Given the description of an element on the screen output the (x, y) to click on. 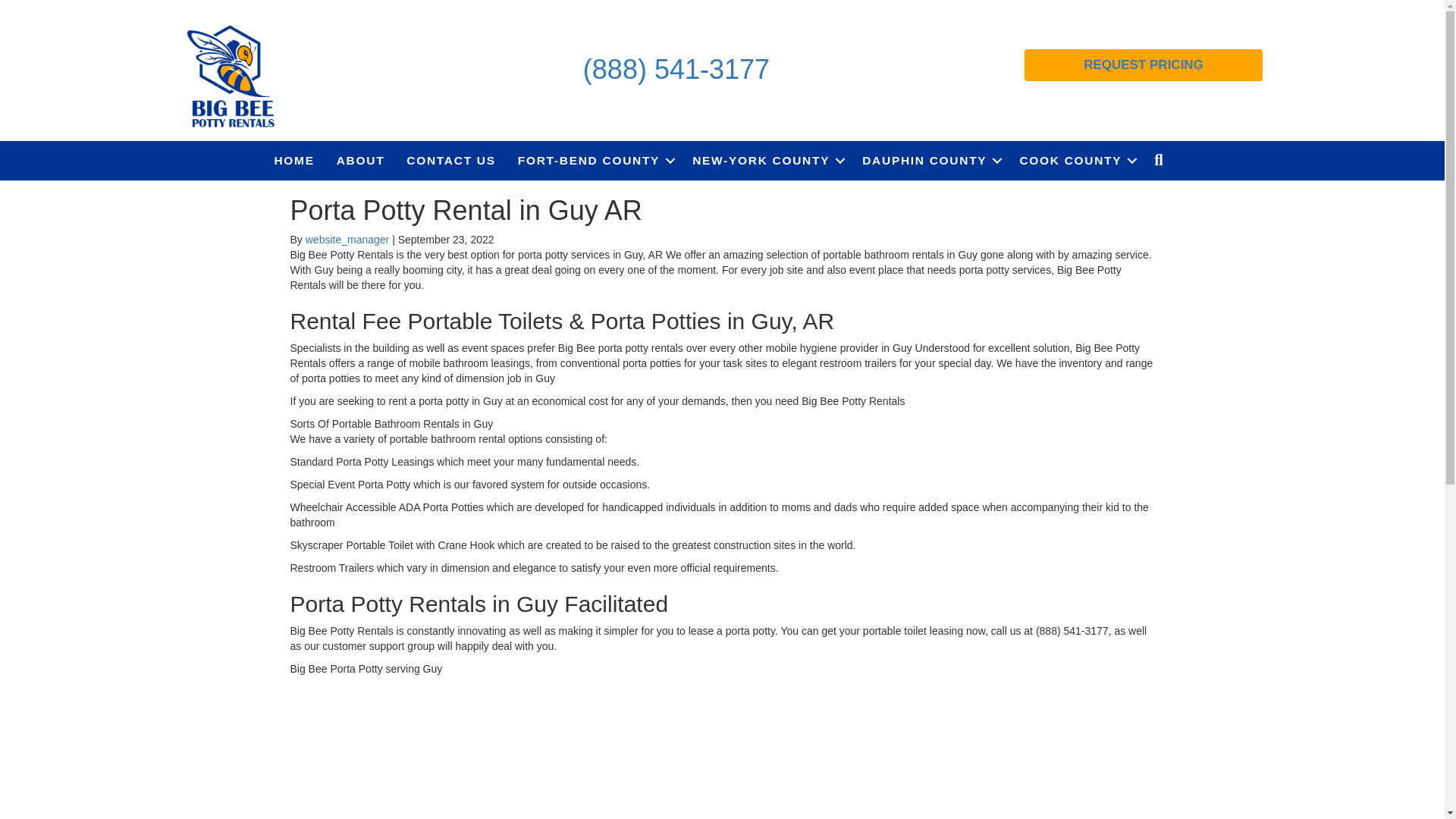
ABOUT (361, 160)
NEW-YORK COUNTY (765, 160)
DAUPHIN COUNTY (929, 160)
COOK COUNTY (1075, 160)
REQUEST PRICING (1144, 65)
HOME (293, 160)
CONTACT US (450, 160)
Skip to content (34, 6)
FORT-BEND COUNTY (593, 160)
